Given the description of an element on the screen output the (x, y) to click on. 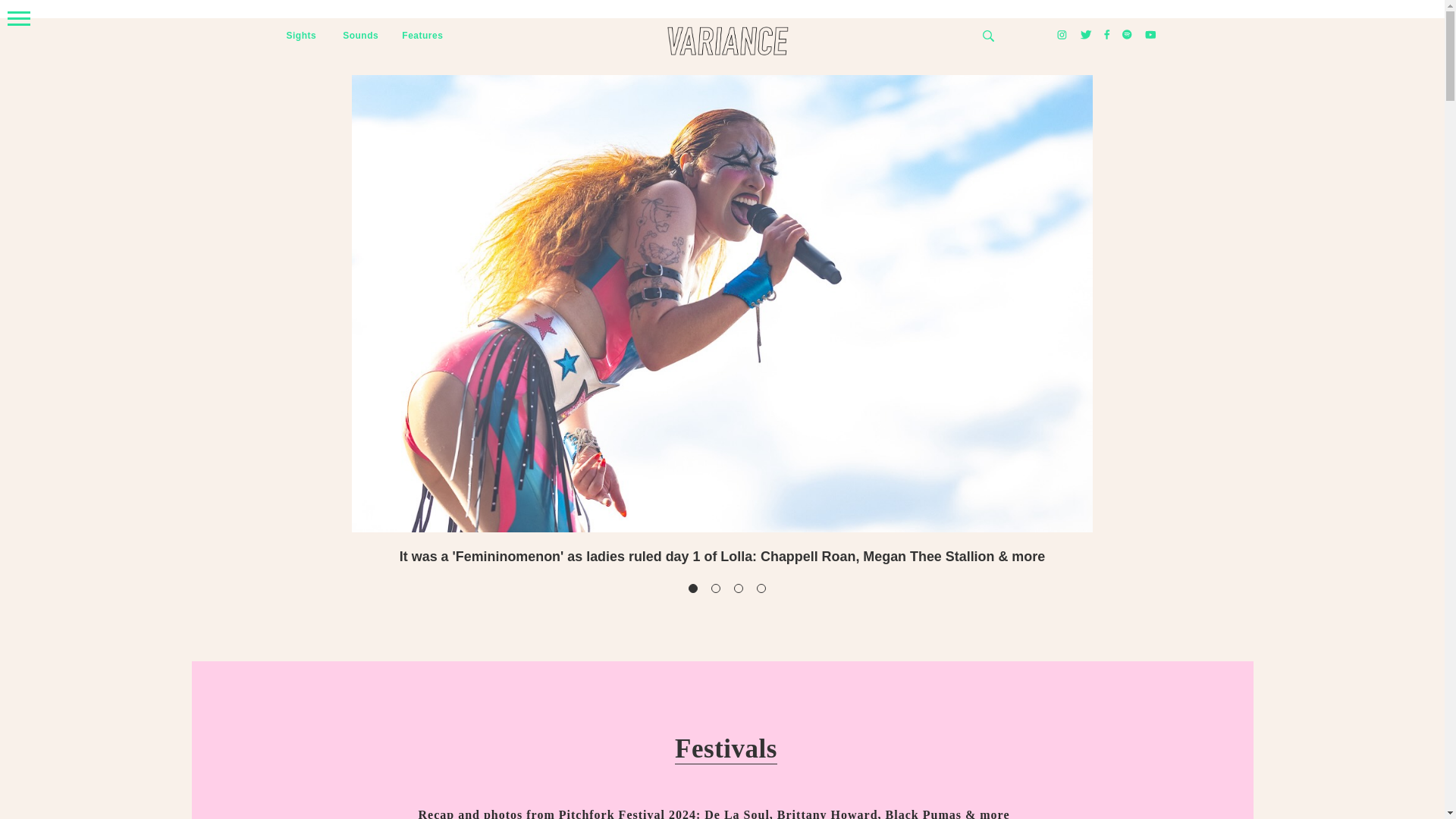
Features (421, 36)
Sounds (360, 36)
Sights (301, 36)
